Given the description of an element on the screen output the (x, y) to click on. 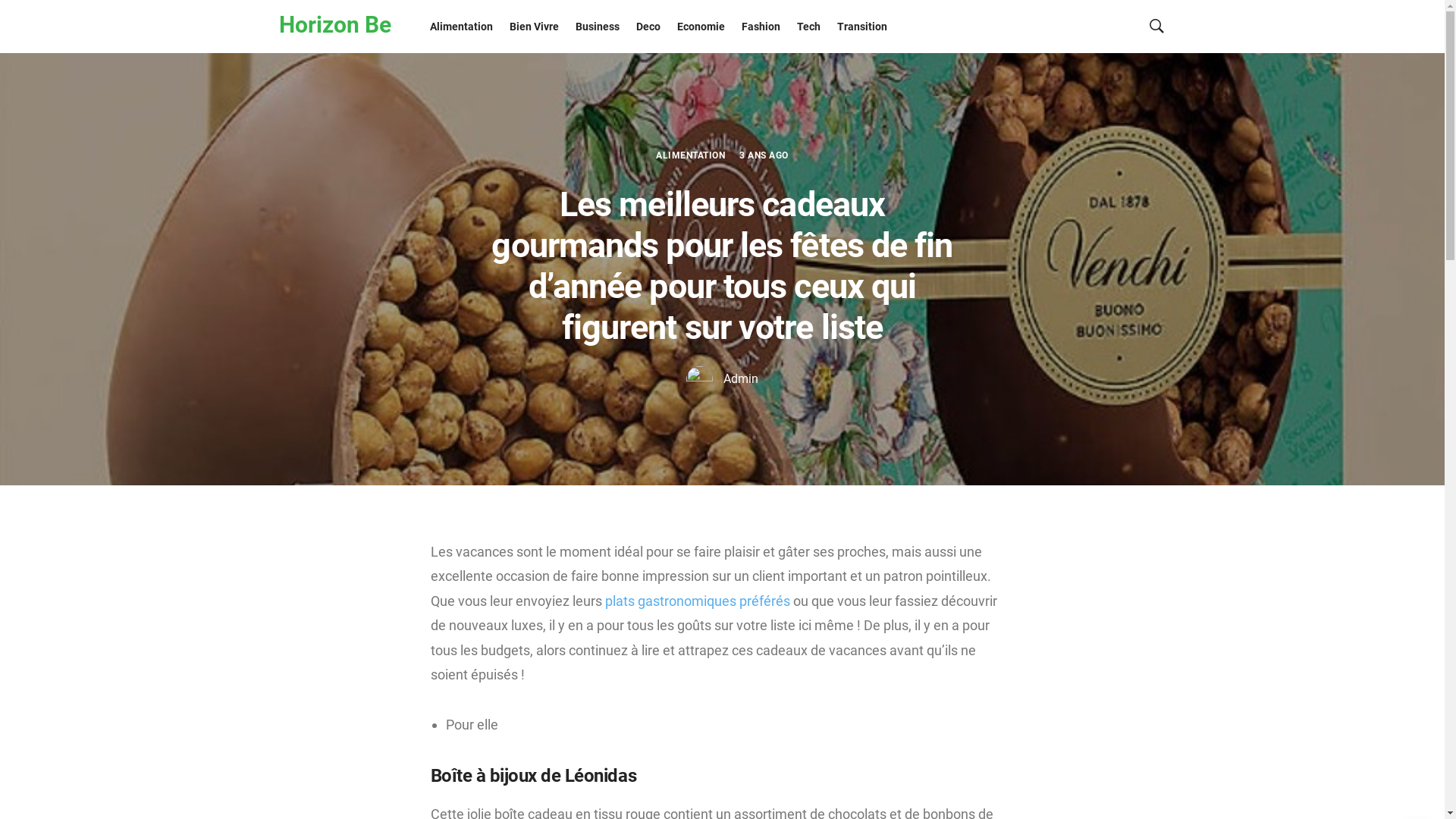
Bien Vivre Element type: text (533, 26)
Tech Element type: text (808, 26)
Alimentation Element type: text (461, 26)
Transition Element type: text (861, 26)
Admin Element type: text (722, 378)
Fashion Element type: text (759, 26)
Economie Element type: text (700, 26)
Deco Element type: text (647, 26)
Horizon Be Element type: text (335, 24)
ALIMENTATION Element type: text (689, 155)
Business Element type: text (597, 26)
